Given the description of an element on the screen output the (x, y) to click on. 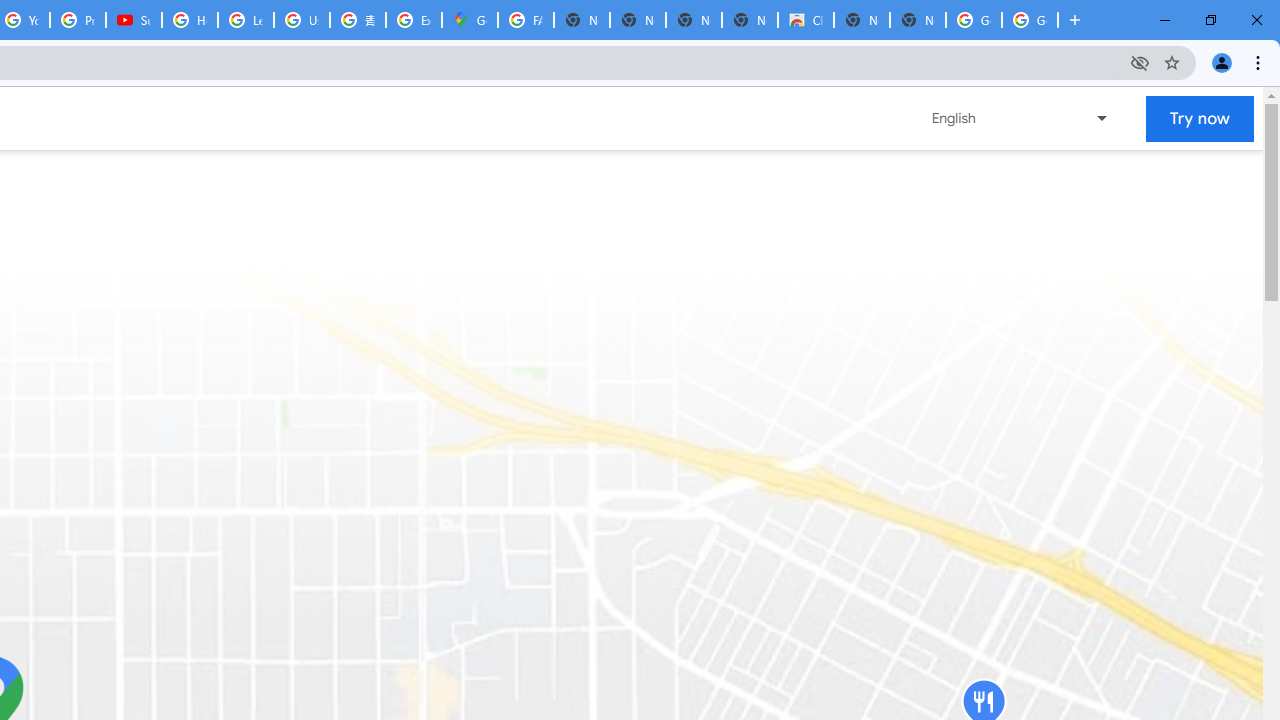
Explore new street-level details - Google Maps Help (413, 20)
Google Images (973, 20)
Change language or region (1021, 117)
Subscriptions - YouTube (134, 20)
